Given the description of an element on the screen output the (x, y) to click on. 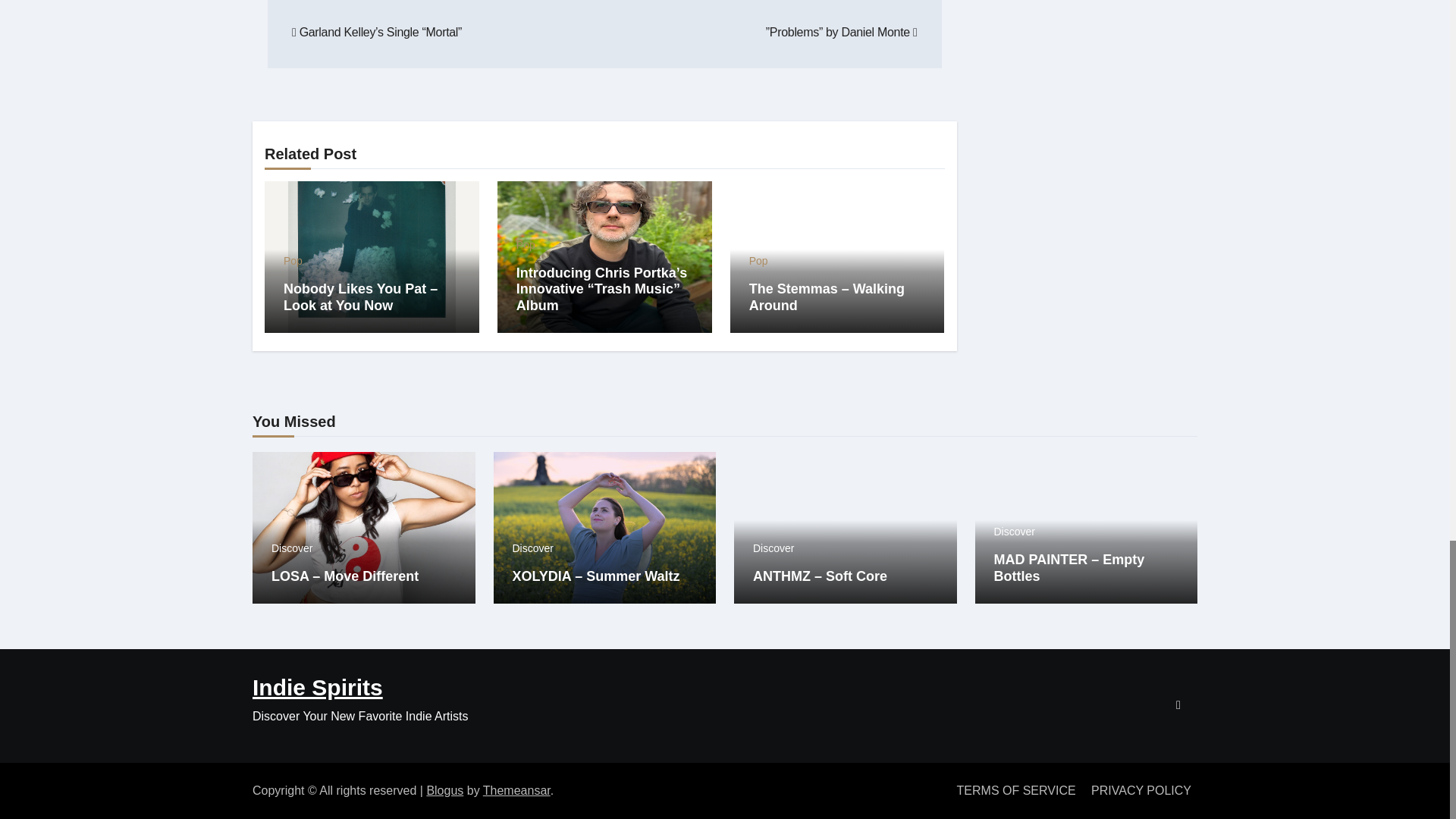
Pop (525, 244)
Pop (292, 260)
